Given the description of an element on the screen output the (x, y) to click on. 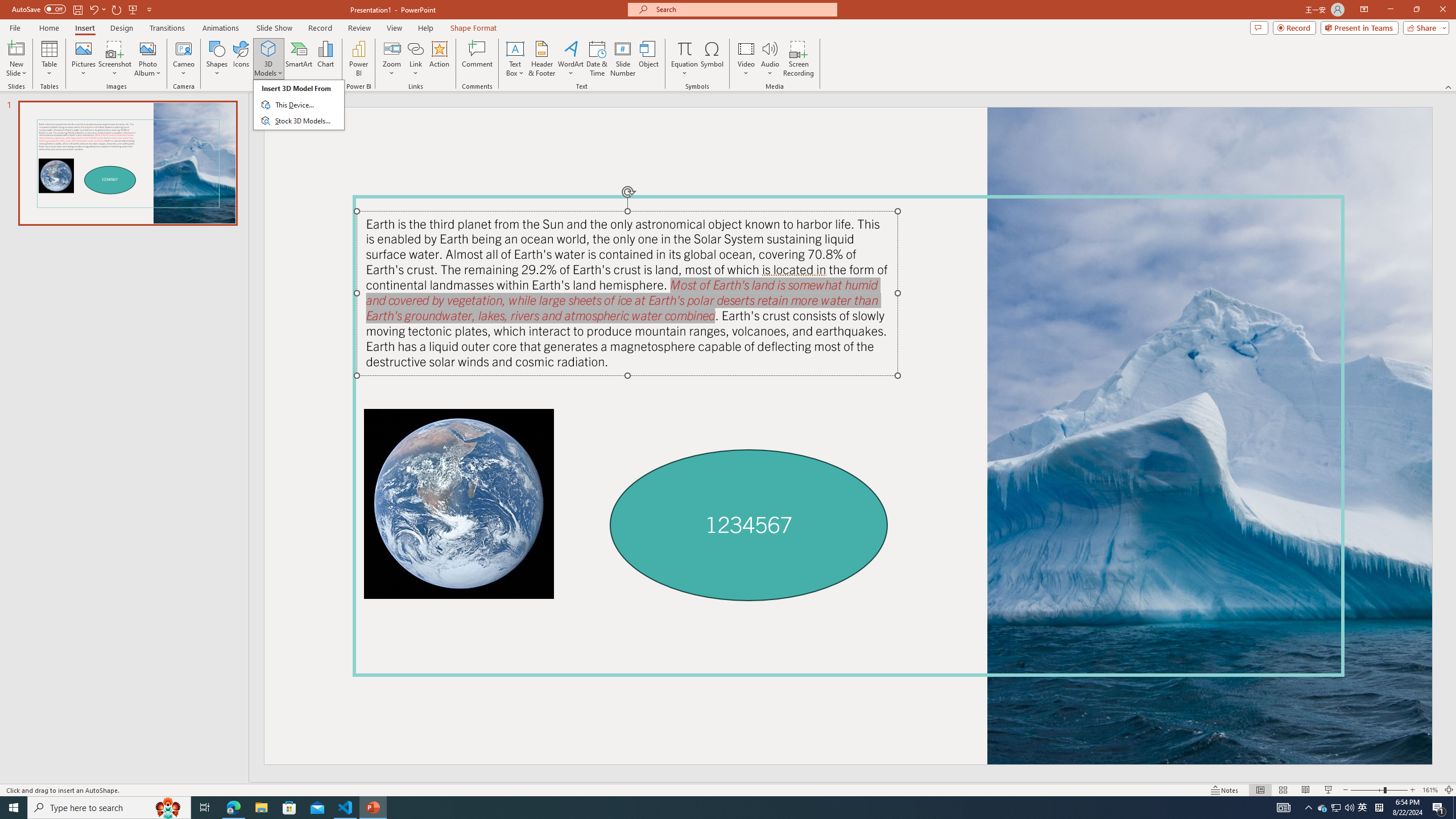
Screenshot (114, 58)
Action (439, 58)
Comment (476, 58)
Power BI (358, 58)
